Given the description of an element on the screen output the (x, y) to click on. 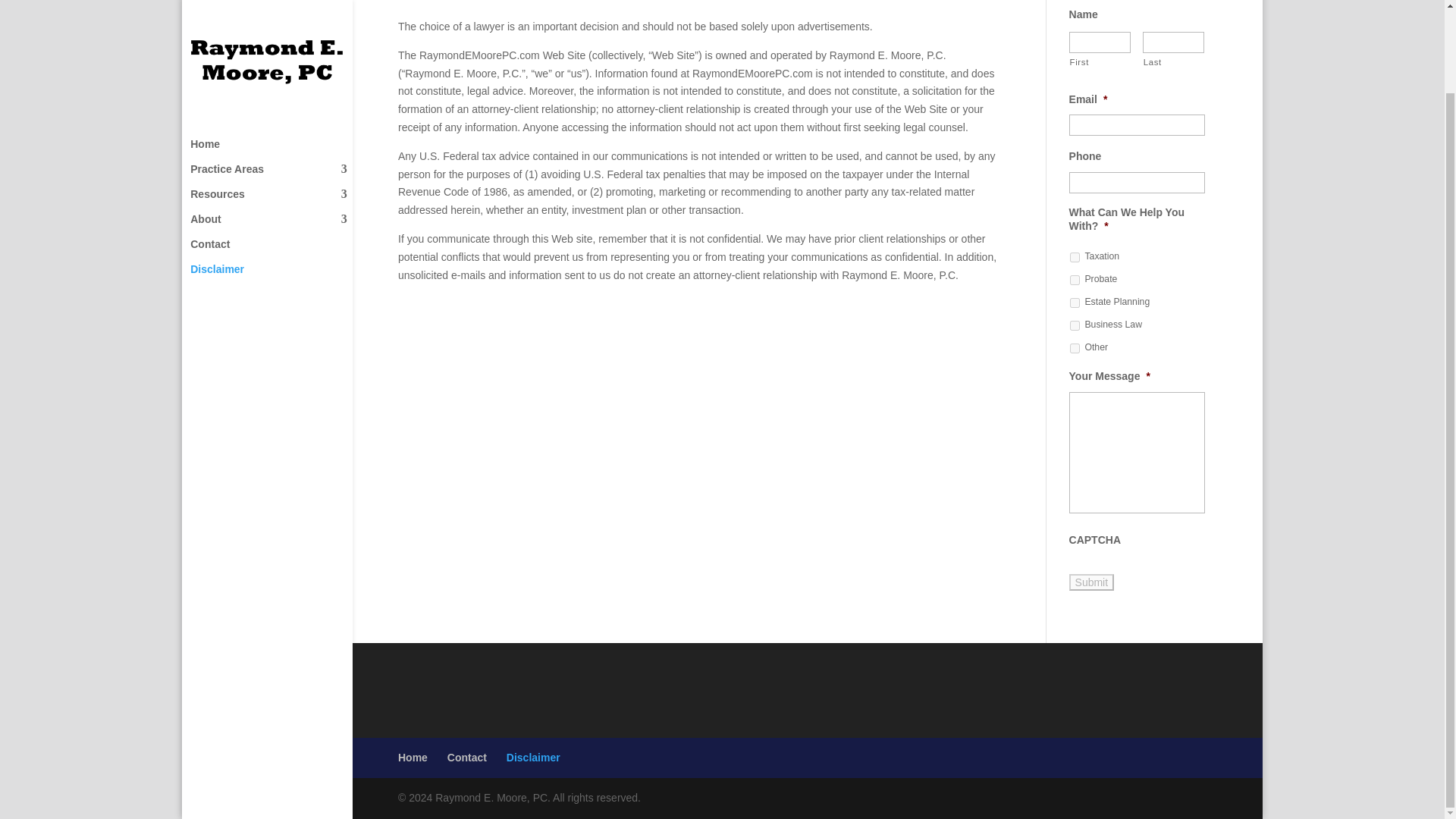
Contact (466, 757)
Business Law (1075, 325)
Practice Areas (276, 82)
Contact (276, 156)
Submit (1091, 582)
Probate (1075, 280)
Disclaimer (276, 181)
Resources (276, 107)
Other (1075, 347)
Submit (1091, 582)
